Given the description of an element on the screen output the (x, y) to click on. 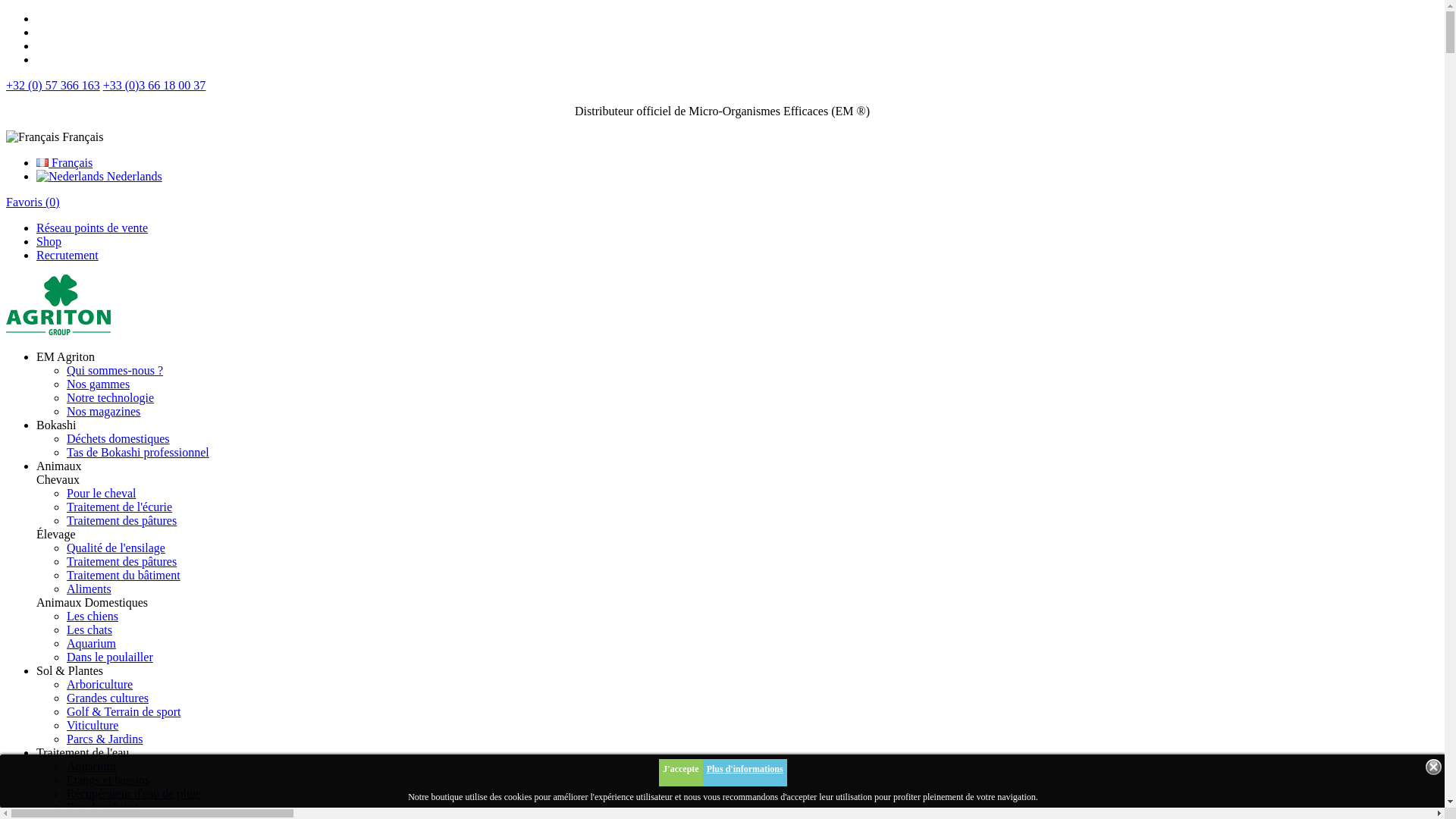
Traitement de l'eau Element type: text (82, 752)
Les chats Element type: text (89, 629)
Dans le poulailler Element type: text (109, 656)
Viticulture Element type: text (92, 724)
Animaux Element type: text (58, 465)
Recrutement Element type: text (67, 254)
J'accepte Element type: text (680, 772)
Golf & Terrain de sport Element type: text (123, 711)
Nos magazines Element type: text (103, 410)
Bokashi Element type: text (55, 424)
Favoris (0) Element type: text (32, 201)
Grandes cultures Element type: text (107, 697)
Arboriculture Element type: text (99, 683)
EM Agriton Element type: text (65, 356)
Nos gammes Element type: text (97, 383)
+32 (0) 57 366 163 Element type: text (53, 84)
Tas de Bokashi professionnel Element type: text (137, 451)
Aquarium Element type: text (91, 765)
Aquarium Element type: text (91, 643)
Aliments Element type: text (88, 588)
Qui sommes-nous ? Element type: text (114, 370)
Notre technologie Element type: text (109, 397)
Plus d'informations Element type: text (744, 772)
Etangs et bassins Element type: text (107, 779)
+33 (0)3 66 18 00 37 Element type: text (154, 84)
Les chiens Element type: text (92, 615)
Pour le cheval Element type: text (101, 492)
Parcs & Jardins Element type: text (104, 738)
Nederlands Element type: text (99, 175)
Eau du robinet Element type: text (102, 806)
Sol & Plantes Element type: text (69, 670)
Shop Element type: text (48, 241)
